Given the description of an element on the screen output the (x, y) to click on. 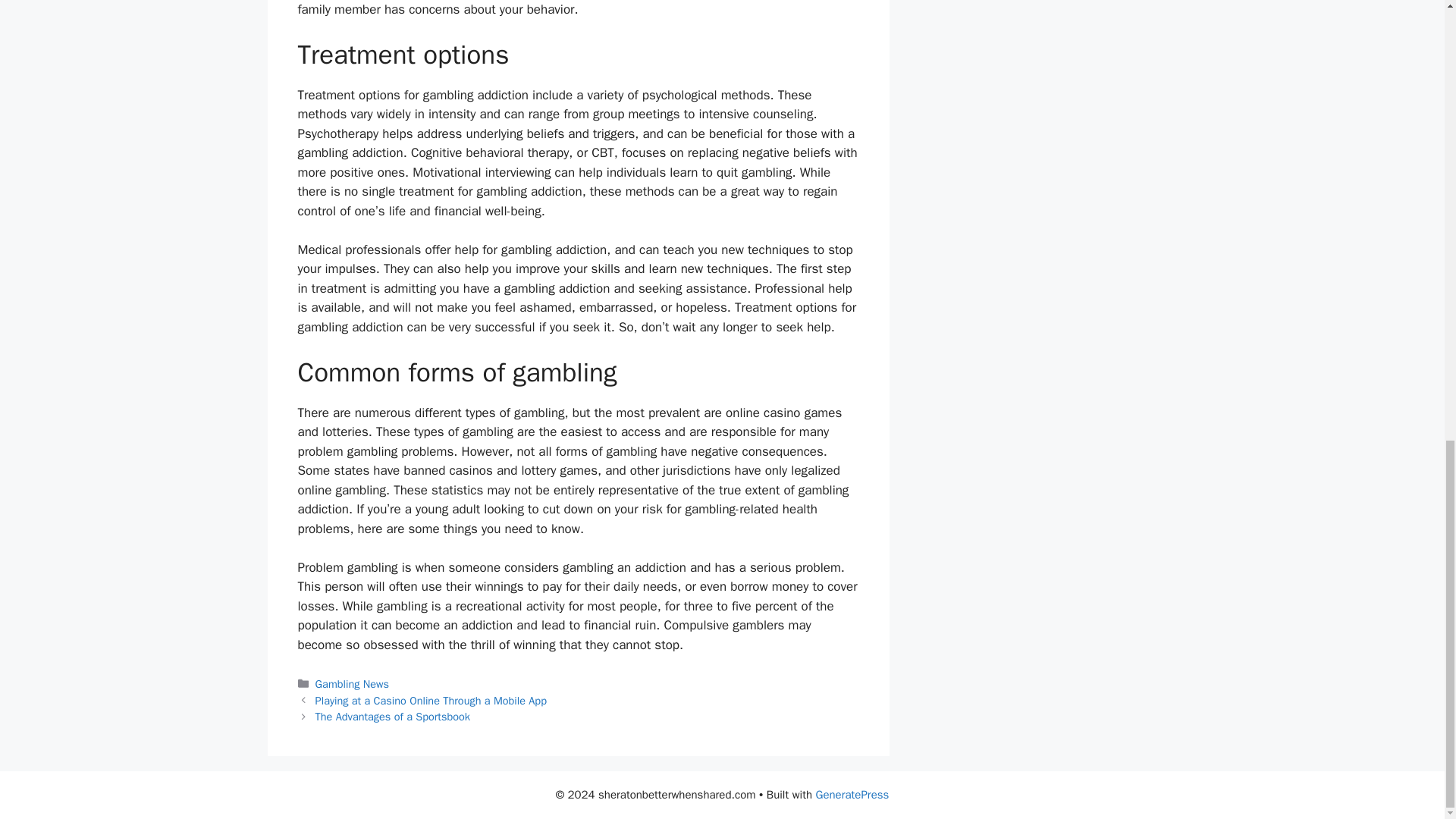
Gambling News (351, 684)
GeneratePress (852, 794)
The Advantages of a Sportsbook (392, 716)
Playing at a Casino Online Through a Mobile App (431, 700)
